Given the description of an element on the screen output the (x, y) to click on. 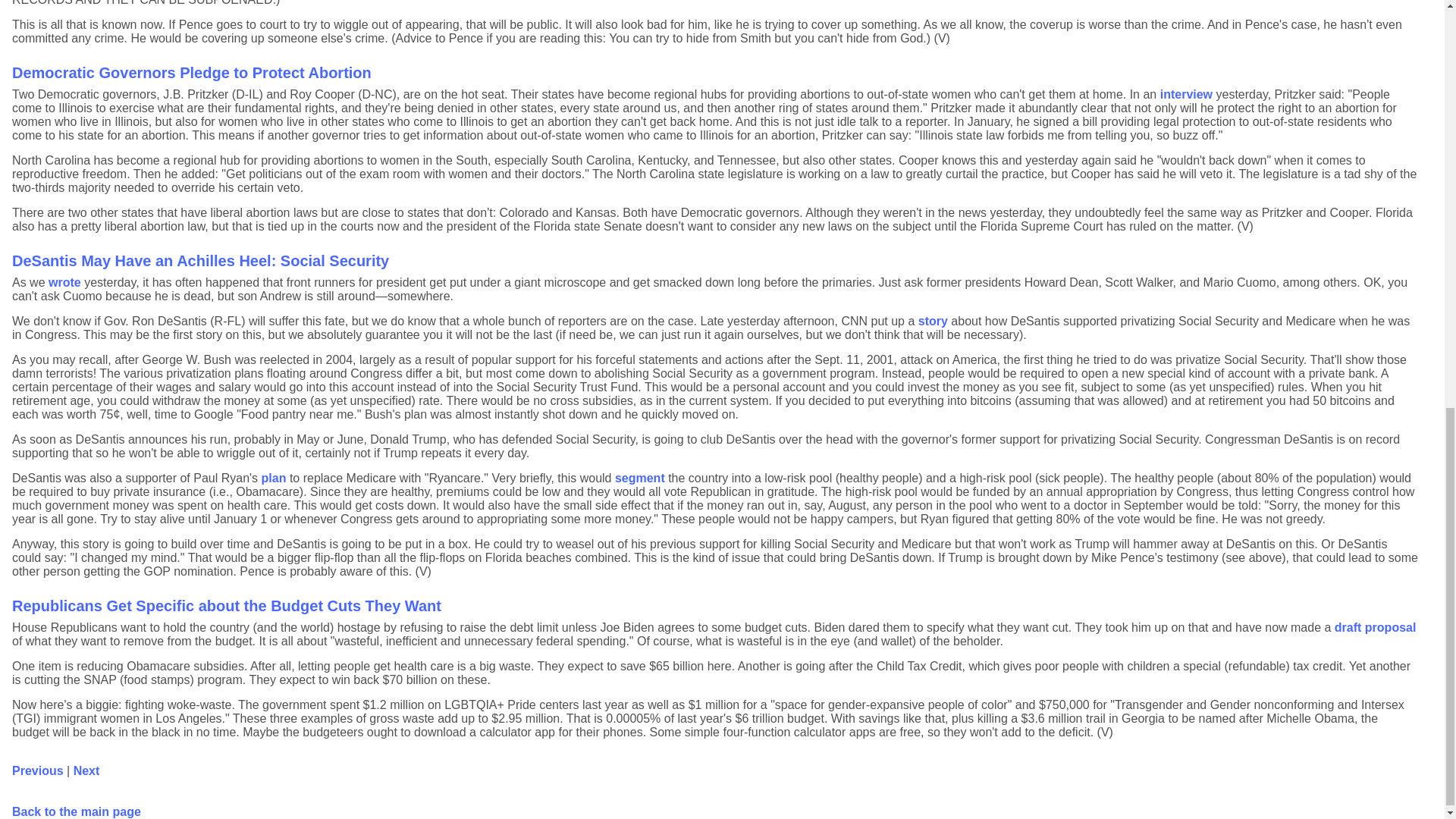
DeSantis May Have an Achilles Heel: Social Security (199, 260)
Next (87, 770)
Democratic Governors Pledge to Protect Abortion (191, 72)
plan (274, 477)
wrote (64, 282)
Republicans Get Specific about the Budget Cuts They Want (226, 605)
interview (1186, 93)
Previous (37, 770)
segment (639, 477)
Back to the main page (76, 811)
story (932, 320)
draft proposal (1375, 626)
